Given the description of an element on the screen output the (x, y) to click on. 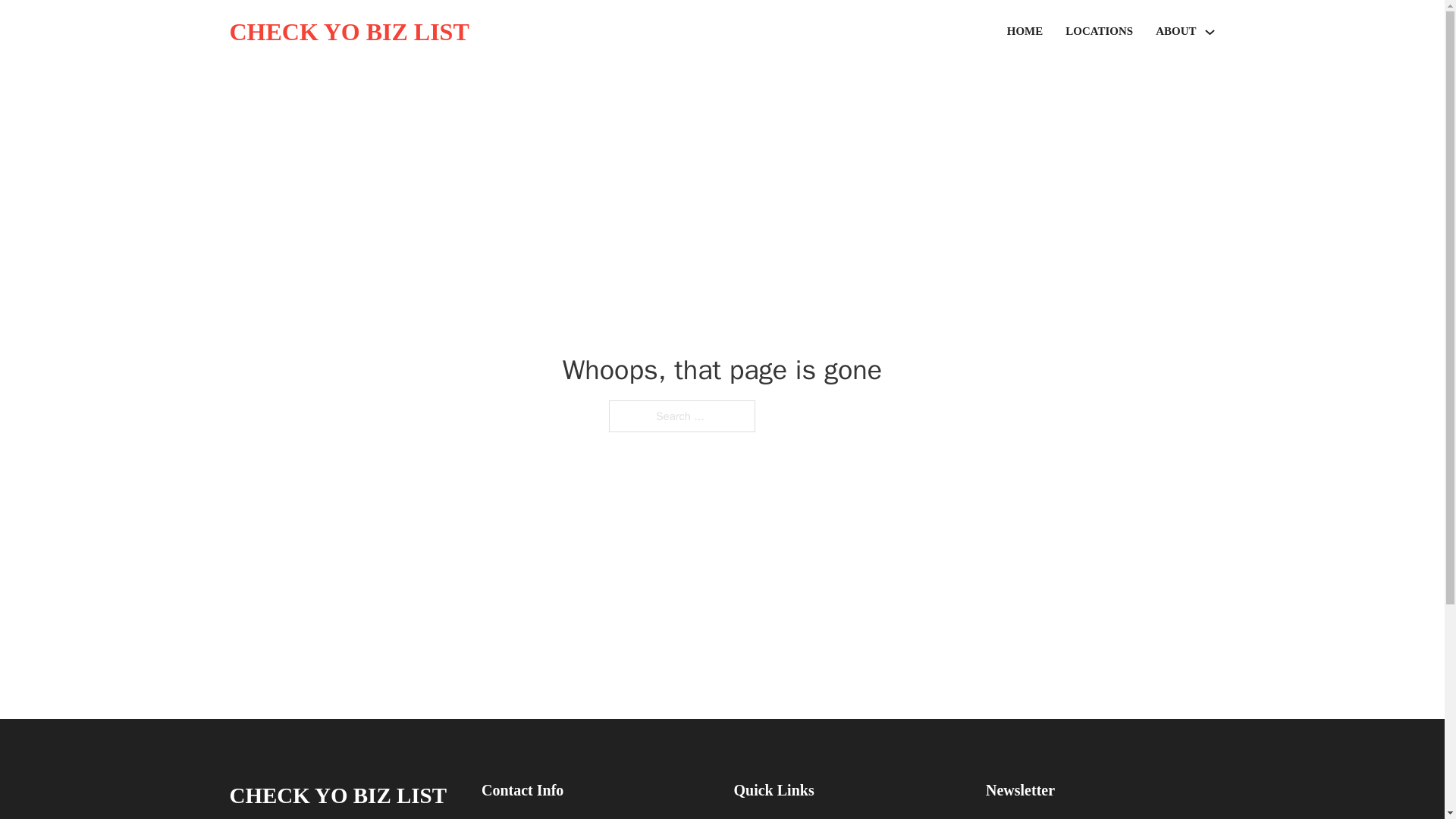
HOME (1025, 31)
CHECK YO BIZ LIST (337, 795)
CHECK YO BIZ LIST (348, 31)
LOCATIONS (1098, 31)
ABOUT (1175, 31)
